Given the description of an element on the screen output the (x, y) to click on. 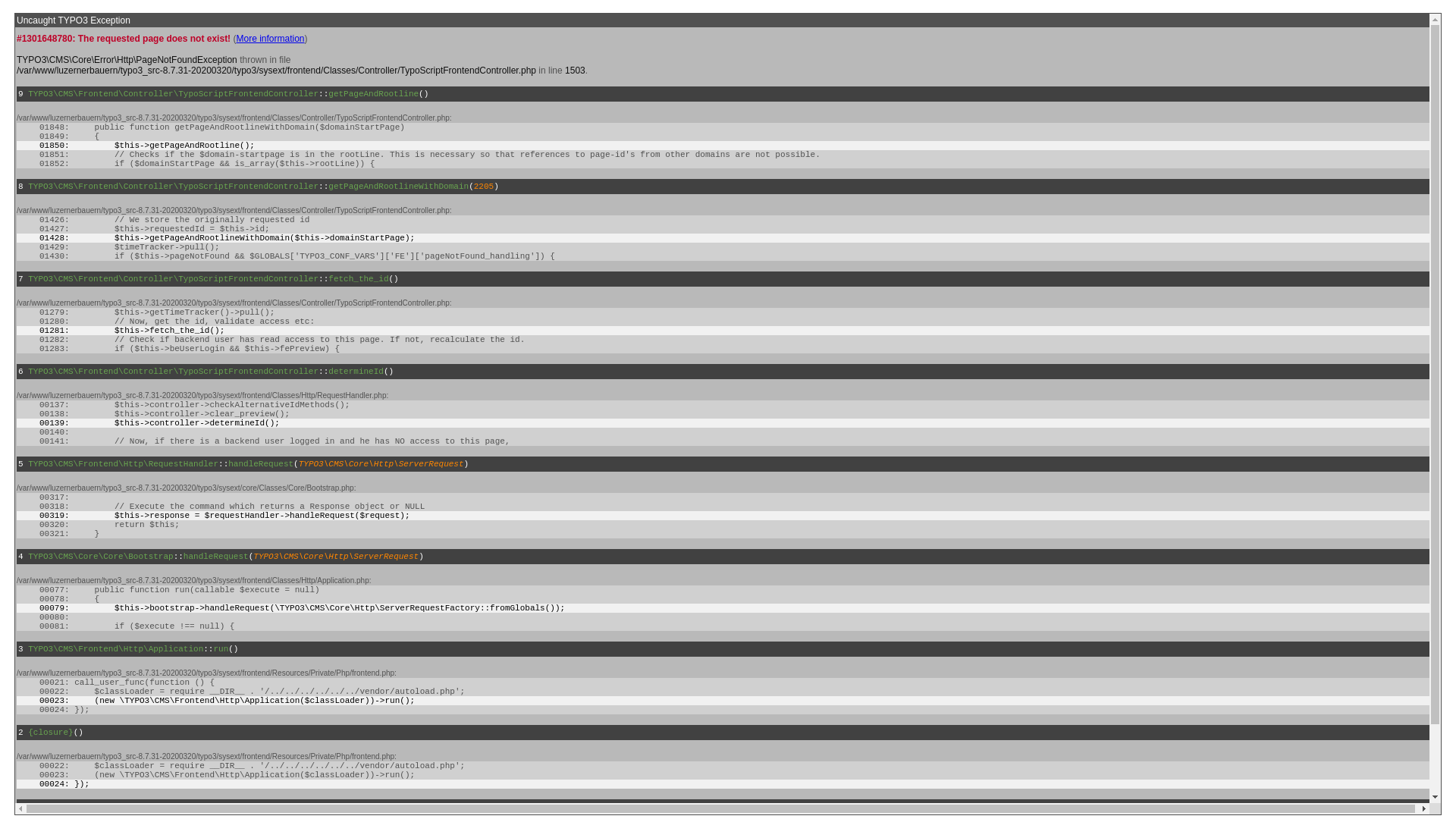
More information Element type: text (269, 38)
